Given the description of an element on the screen output the (x, y) to click on. 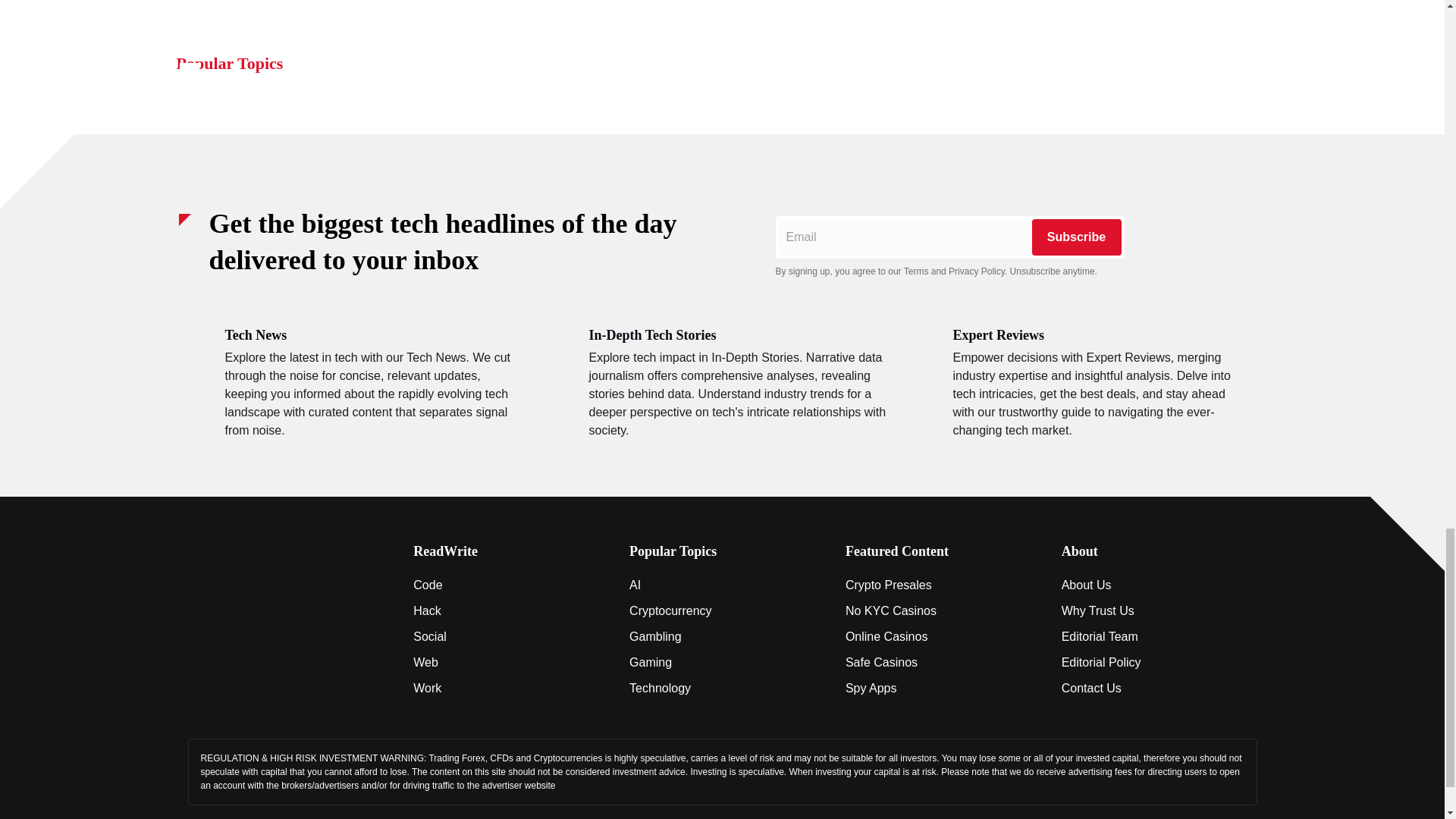
Subscribe (1075, 237)
